Given the description of an element on the screen output the (x, y) to click on. 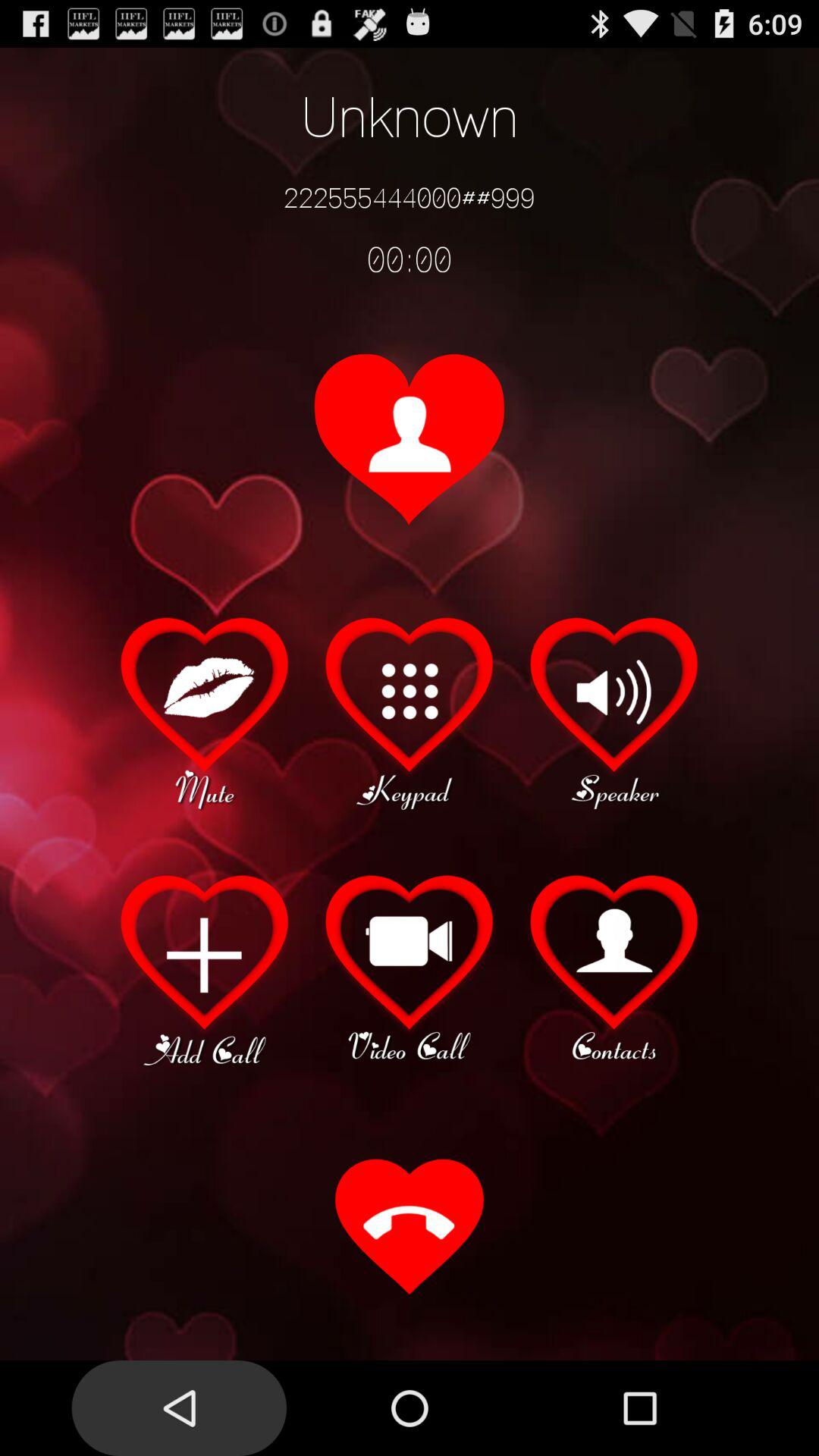
add number (204, 968)
